Given the description of an element on the screen output the (x, y) to click on. 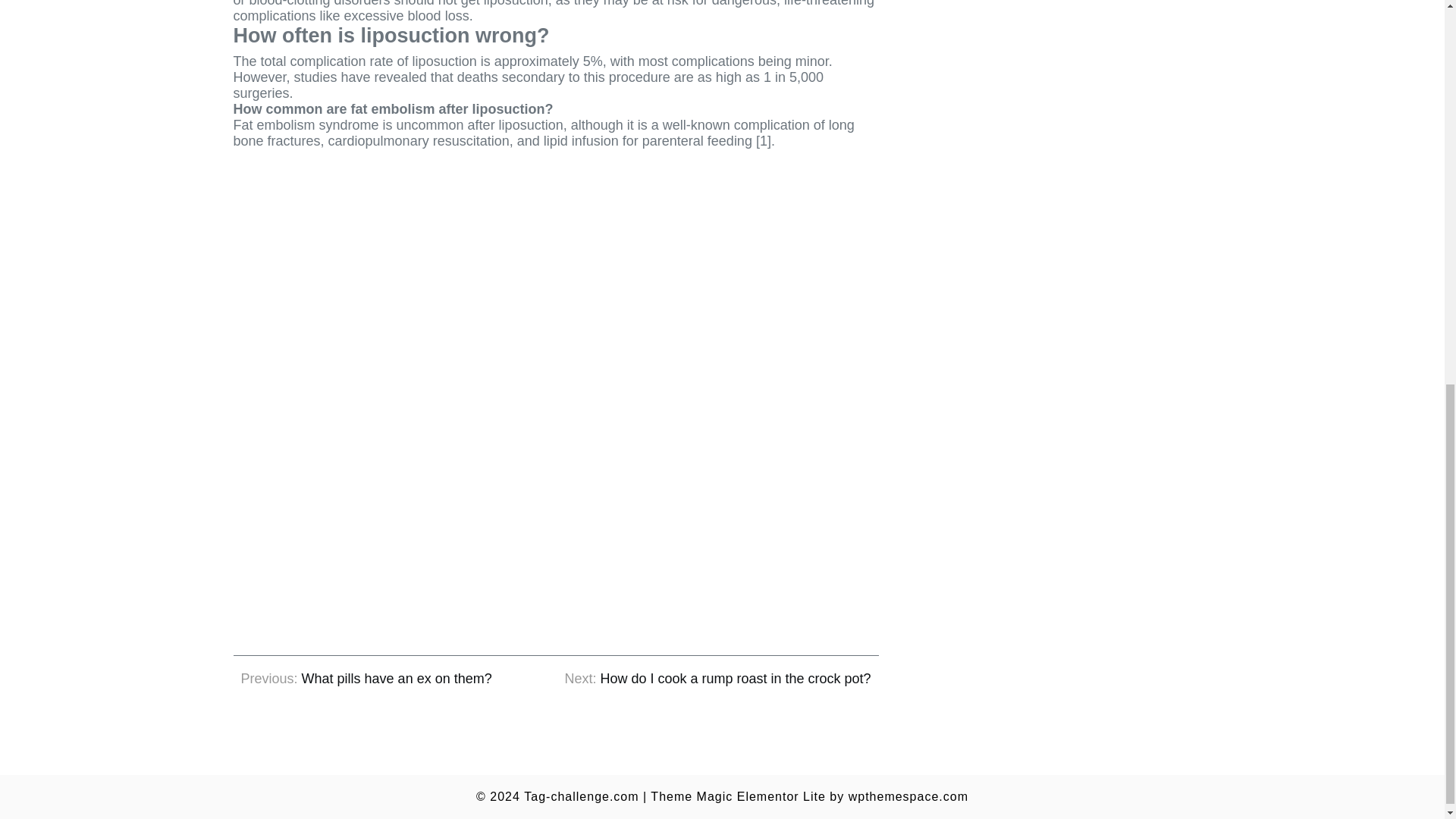
Previous: What pills have an ex on them? (366, 678)
Next: How do I cook a rump roast in the crock pot? (717, 678)
Tag-challenge.com (581, 796)
